Given the description of an element on the screen output the (x, y) to click on. 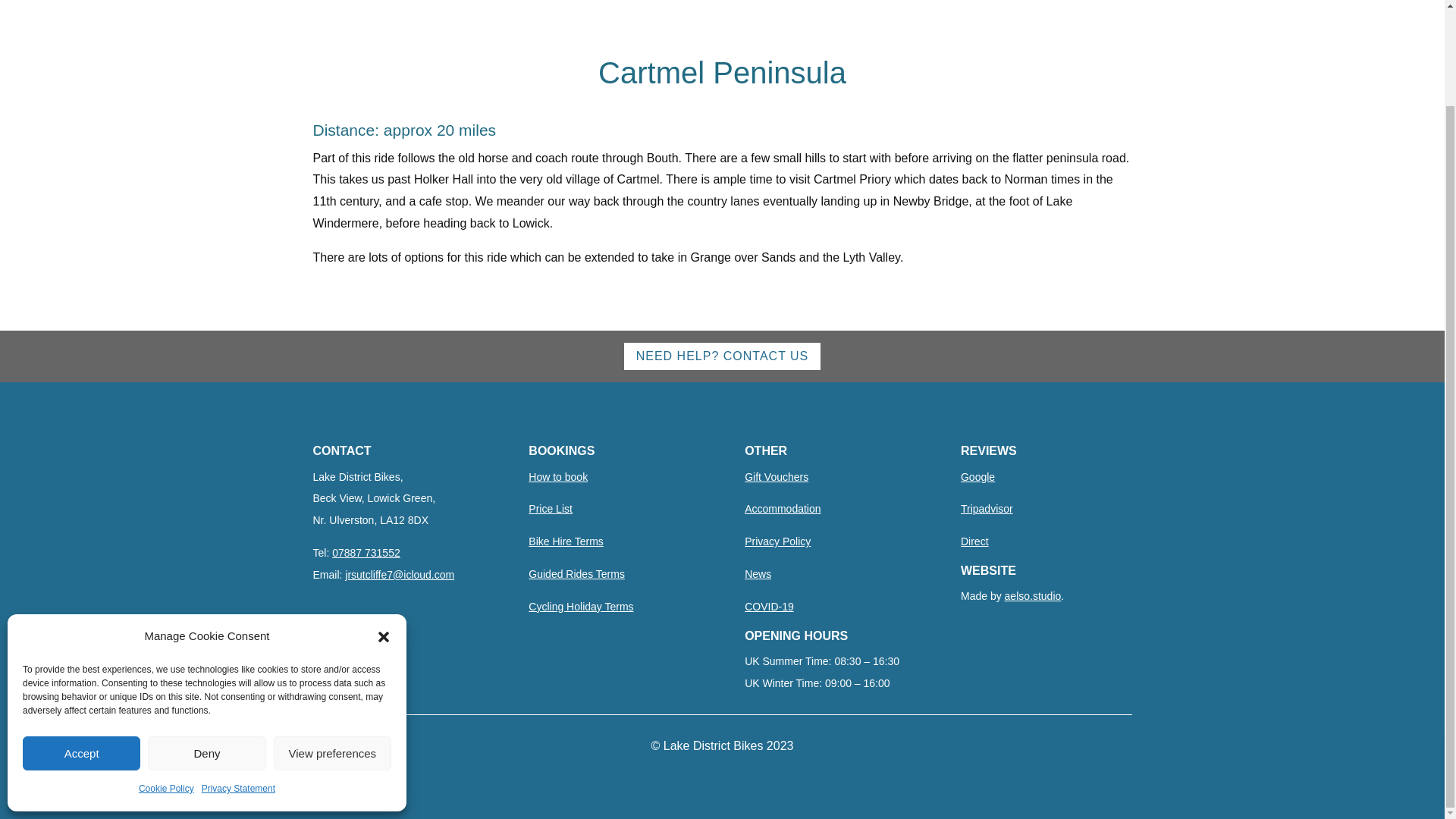
Accept (81, 642)
View preferences (332, 642)
Privacy Statement (238, 678)
Deny (206, 642)
Cookie Policy (165, 678)
